Given the description of an element on the screen output the (x, y) to click on. 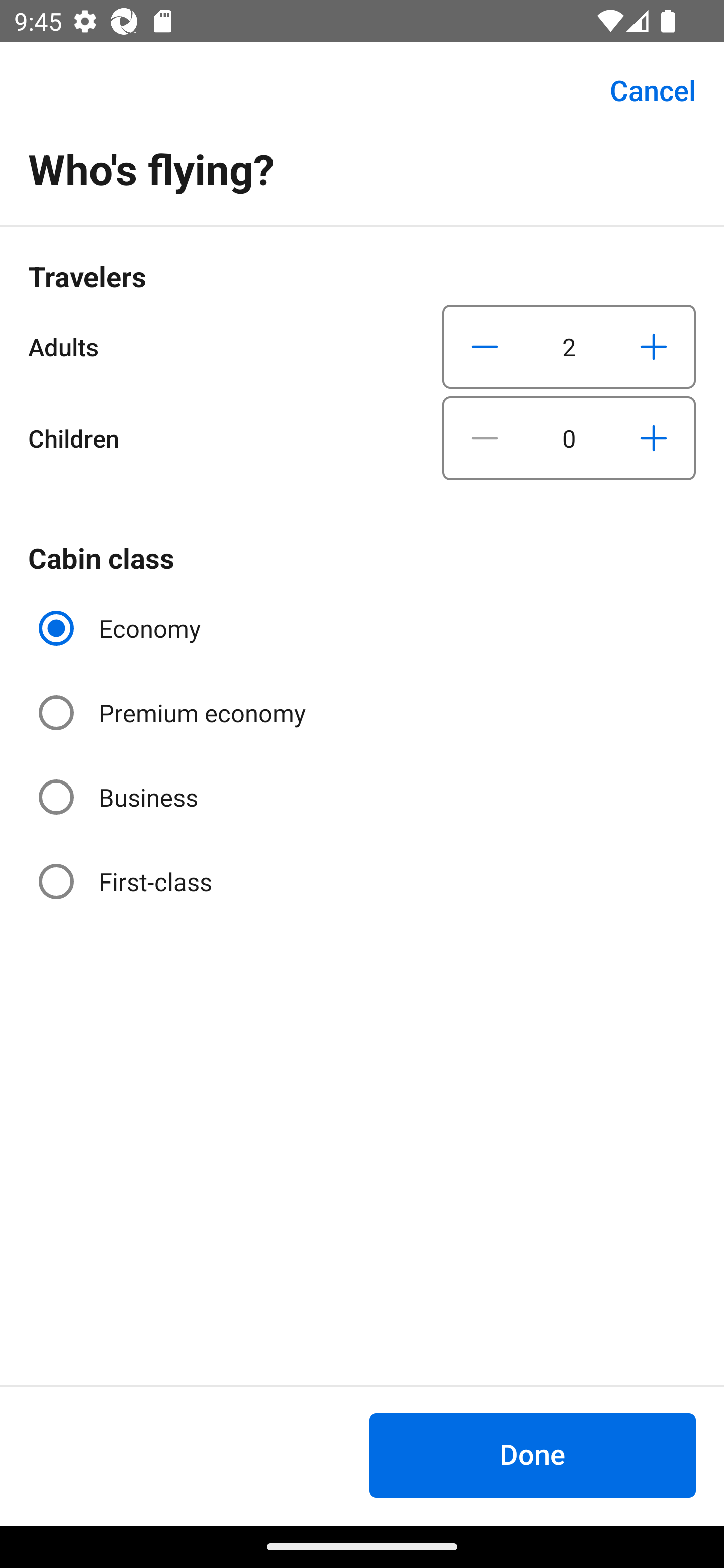
Cancel (641, 90)
Decrease (484, 346)
Increase (653, 346)
Decrease (484, 437)
Increase (653, 437)
Economy (121, 628)
Premium economy (174, 712)
Business (120, 796)
First-class (126, 880)
Done (532, 1454)
